Given the description of an element on the screen output the (x, y) to click on. 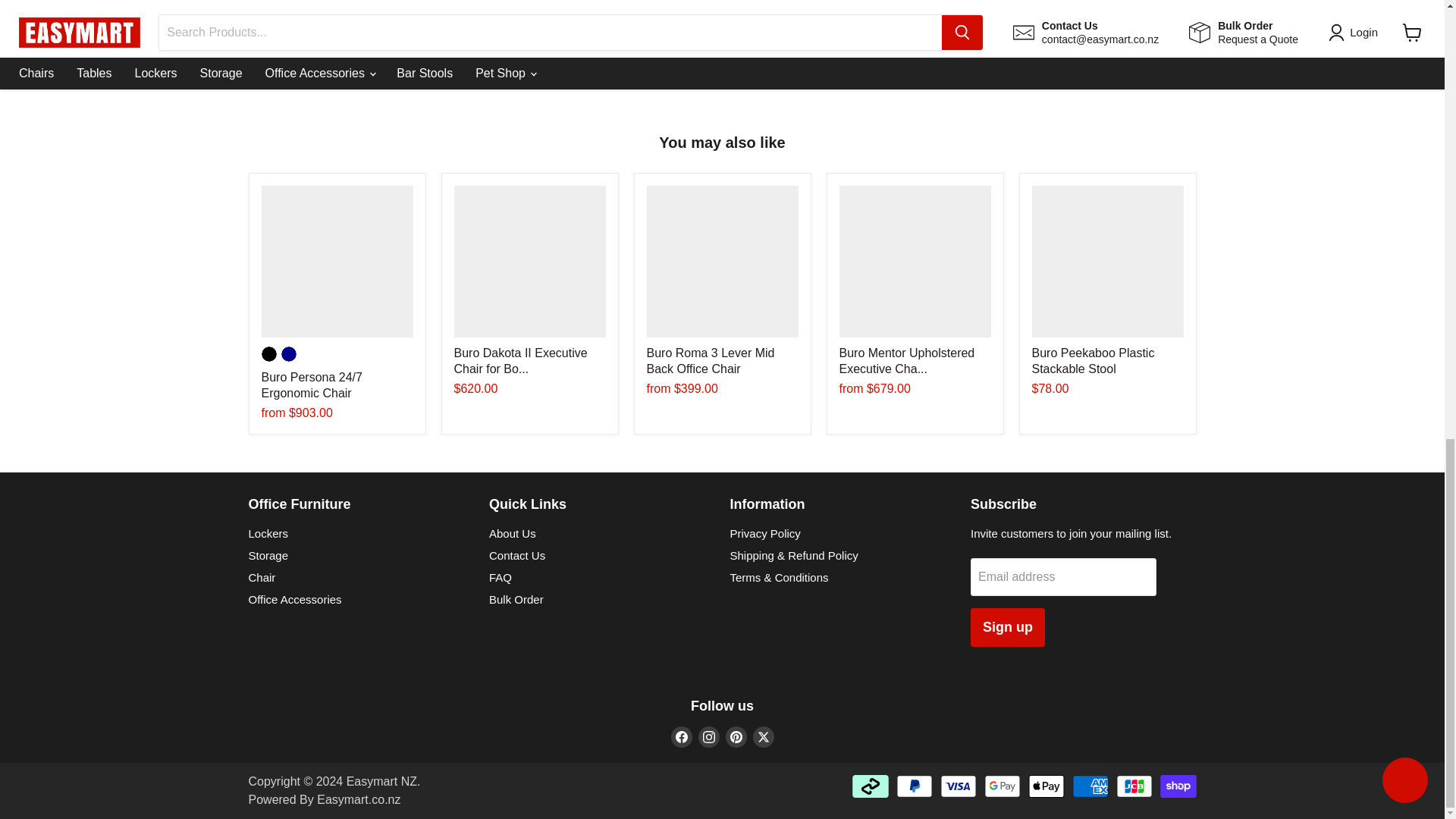
Instagram (708, 736)
Facebook (680, 736)
Twitter (762, 736)
Pinterest (735, 736)
